Given the description of an element on the screen output the (x, y) to click on. 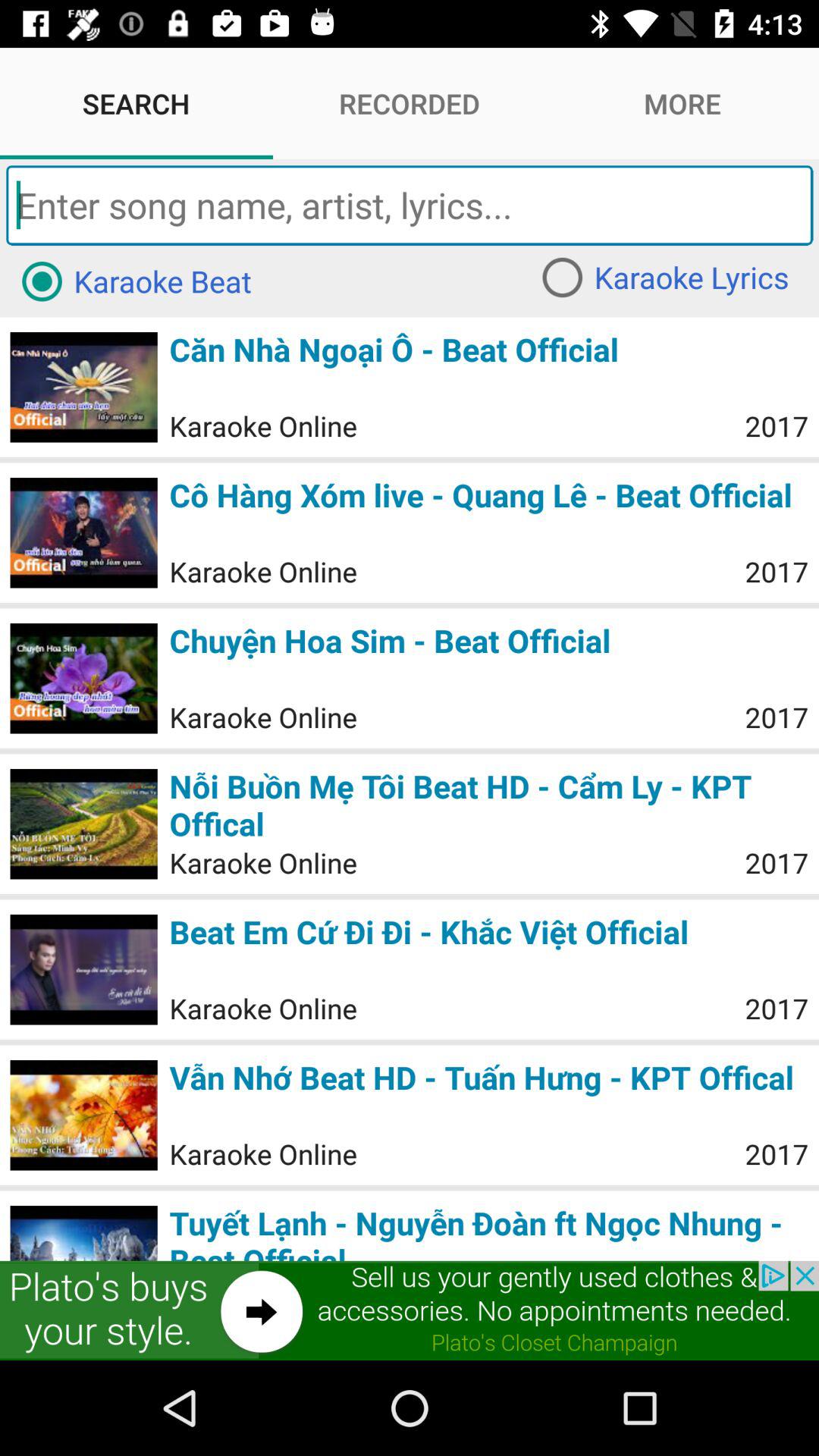
enter the name artist song or lyrics (409, 205)
